Given the description of an element on the screen output the (x, y) to click on. 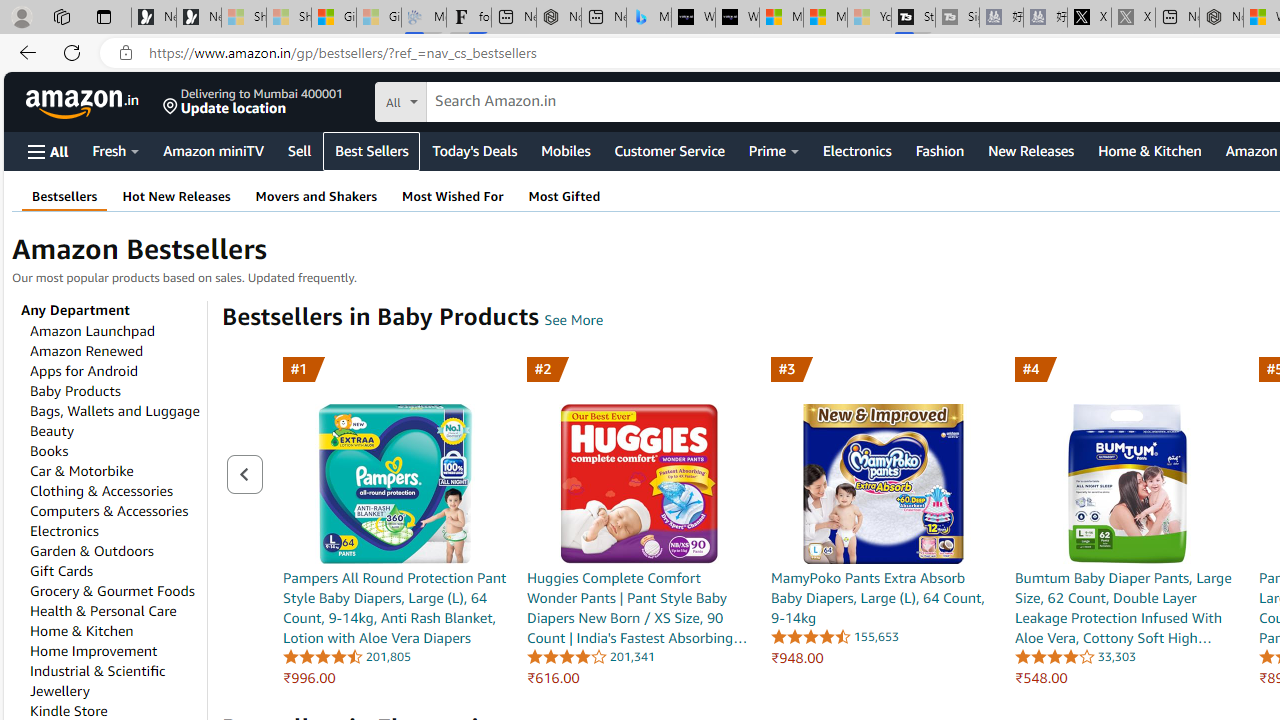
Fresh (115, 150)
Amazon Launchpad (92, 330)
Car & Motorbike (81, 471)
Home Improvement (93, 651)
Books (49, 451)
Fashion (939, 150)
Apps for Android (84, 371)
Home & Kitchen (81, 631)
Amazon.in (84, 101)
Bestsellers (64, 196)
